Given the description of an element on the screen output the (x, y) to click on. 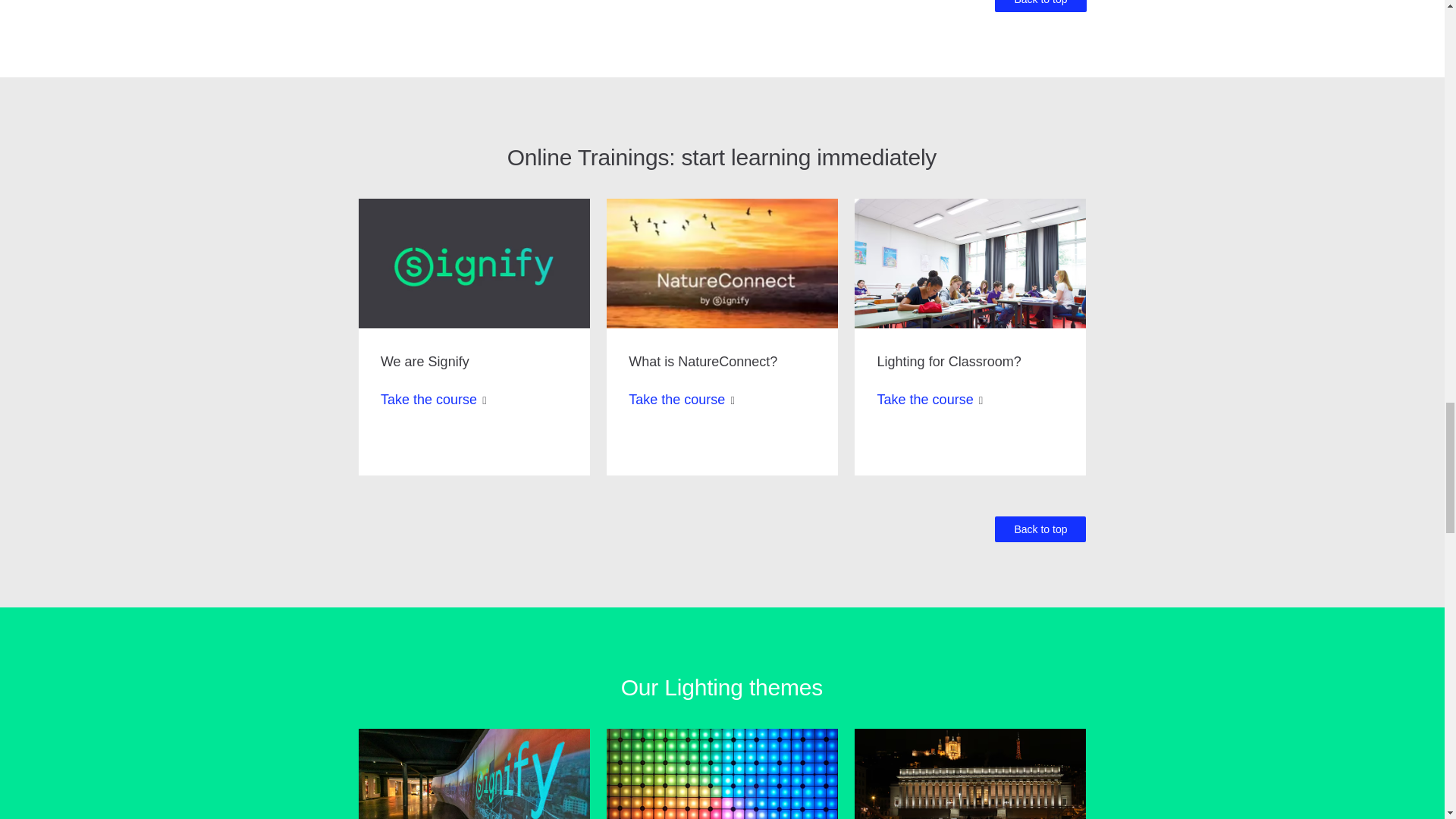
Take the course (676, 399)
Back to top (1040, 6)
Back to top (1040, 529)
Take the course (428, 399)
Back to top (1040, 6)
Take the course (925, 399)
Back to top (1040, 529)
